Given the description of an element on the screen output the (x, y) to click on. 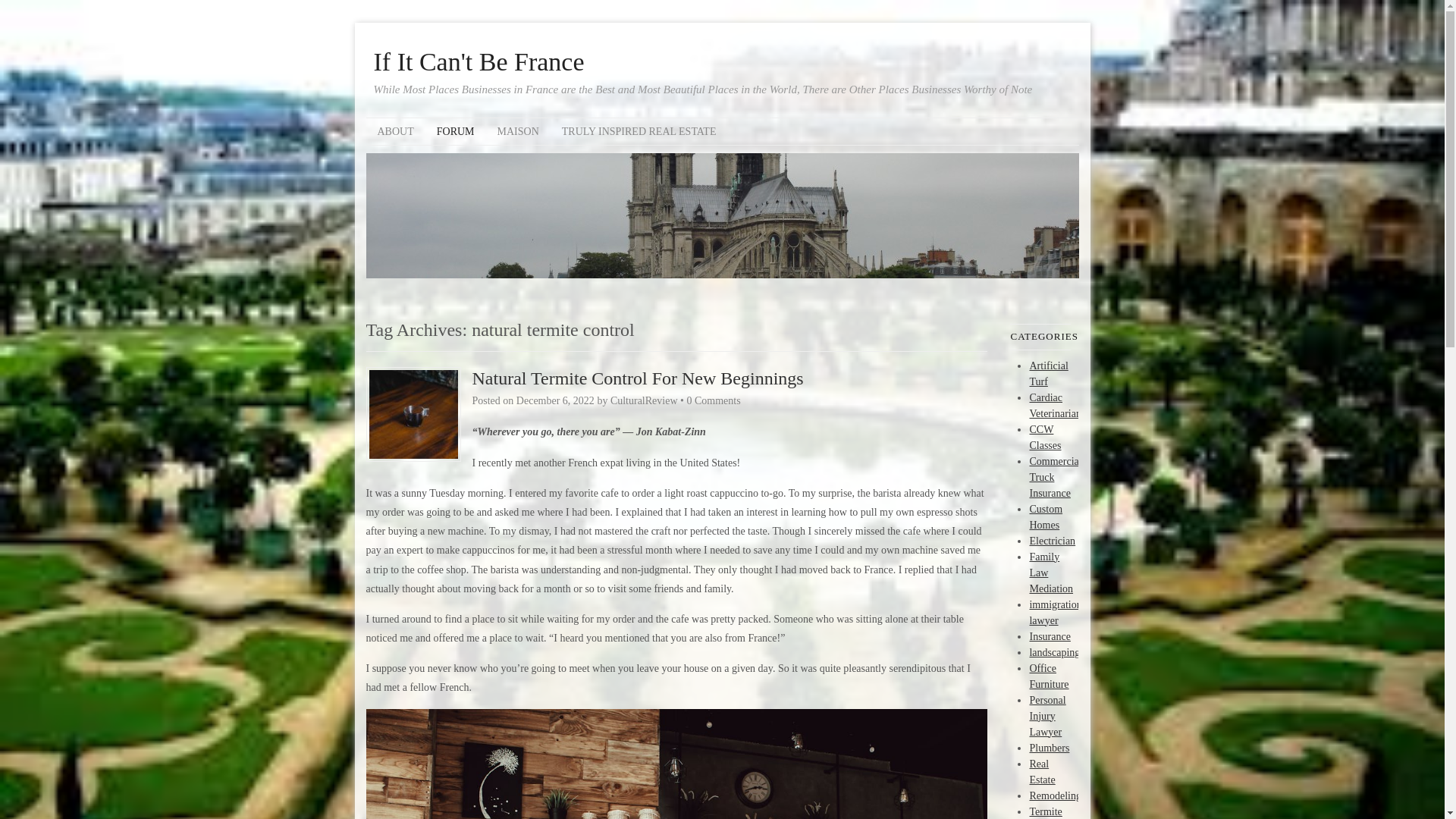
CCW Classes (1045, 436)
Commercial Truck Insurance (1055, 476)
ABOUT (395, 130)
0 Comments (712, 400)
Natural Termite Control For New Beginnings (637, 378)
Natural Termite Control For New Beginnings (637, 378)
View all posts by CulturalReview (644, 400)
Termite Exterminator (1056, 812)
Office Furniture (1048, 676)
TRULY INSPIRED REAL ESTATE (639, 130)
